Given the description of an element on the screen output the (x, y) to click on. 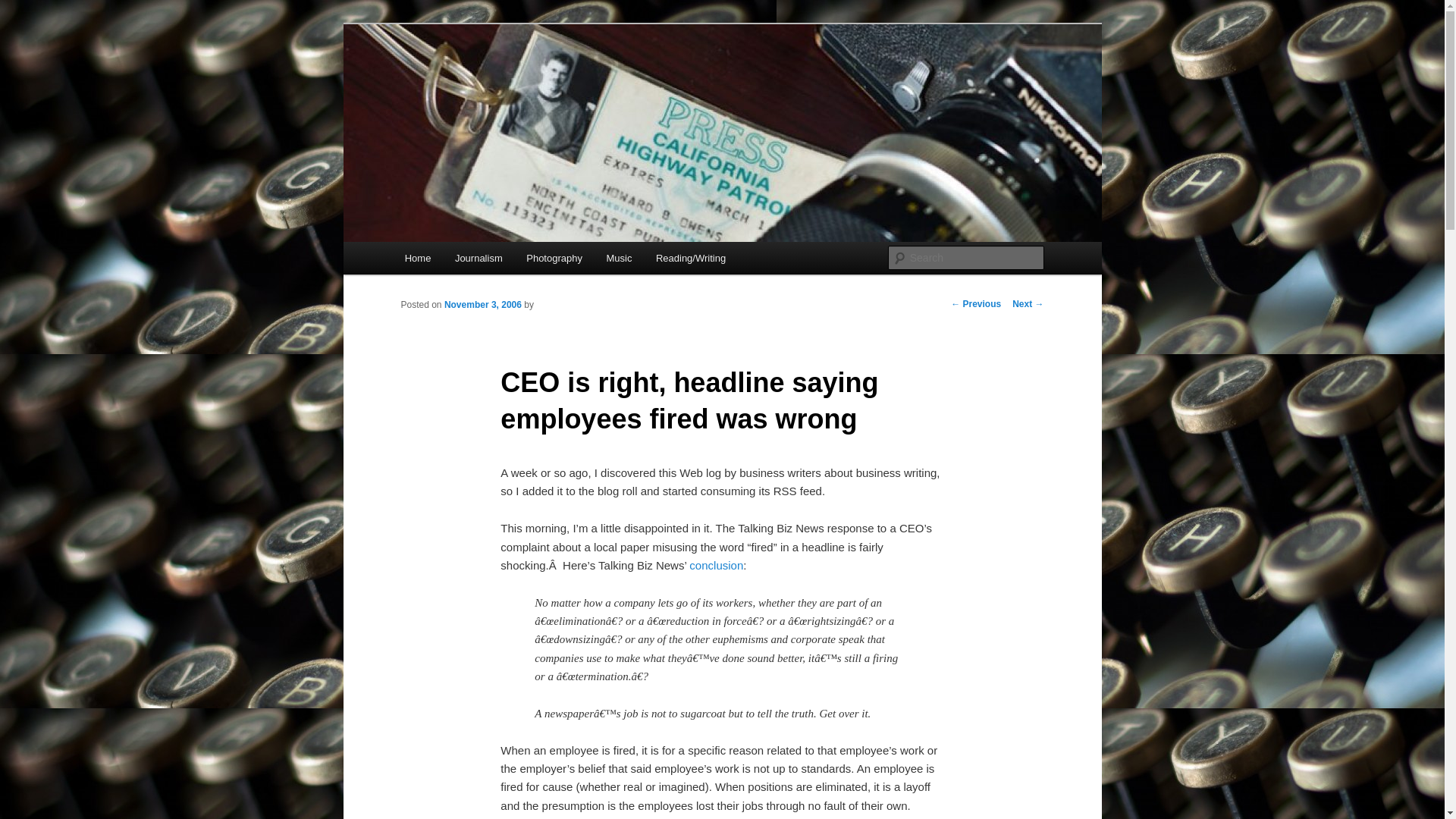
conclusion (715, 564)
8:33 pm (482, 304)
Journalism (477, 257)
Photography (553, 257)
Home (417, 257)
Howard Owens (482, 78)
Search (24, 8)
Music (618, 257)
November 3, 2006 (482, 304)
